Given the description of an element on the screen output the (x, y) to click on. 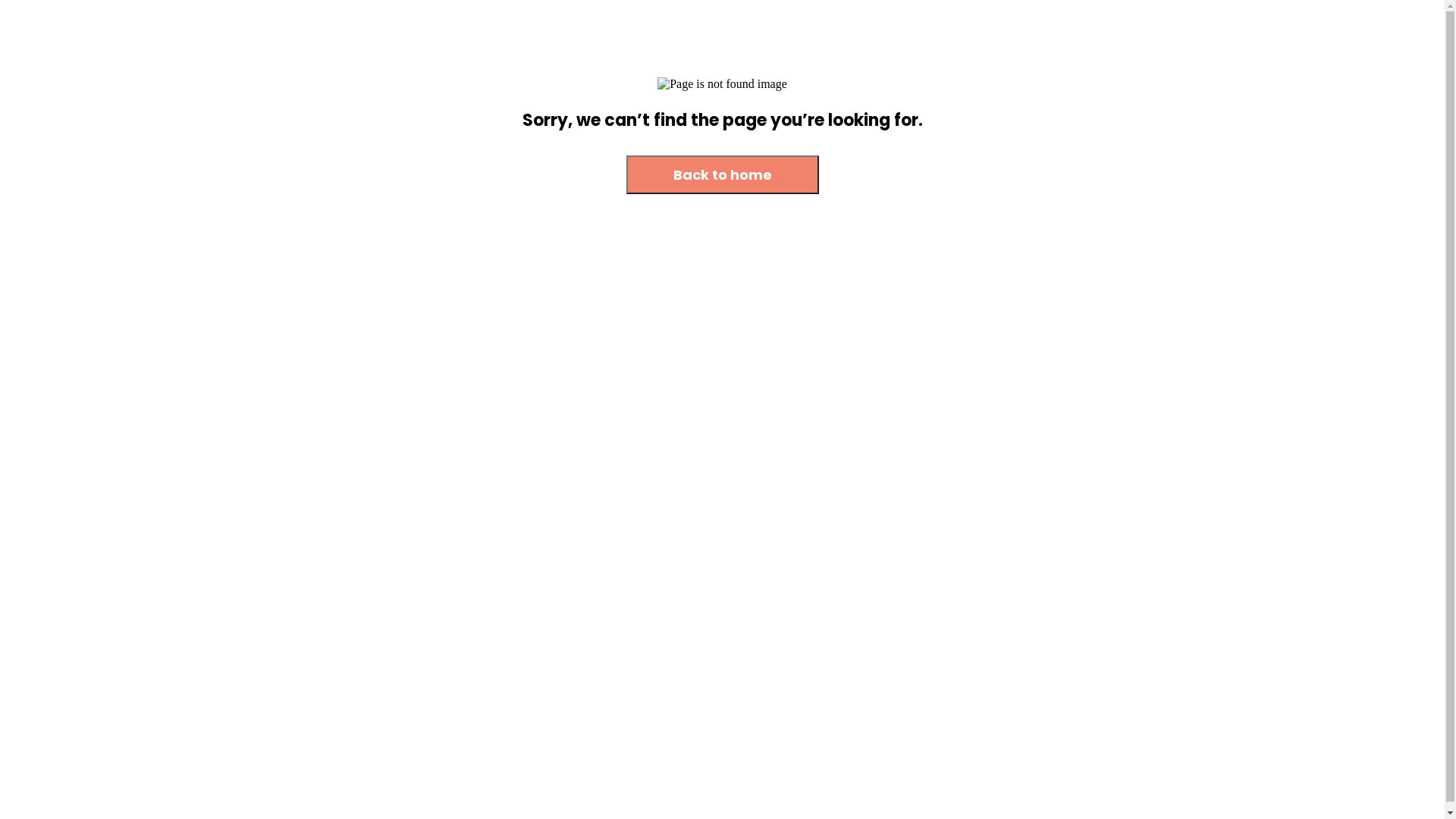
Back to home Element type: text (722, 174)
Back to home Element type: text (722, 175)
